Given the description of an element on the screen output the (x, y) to click on. 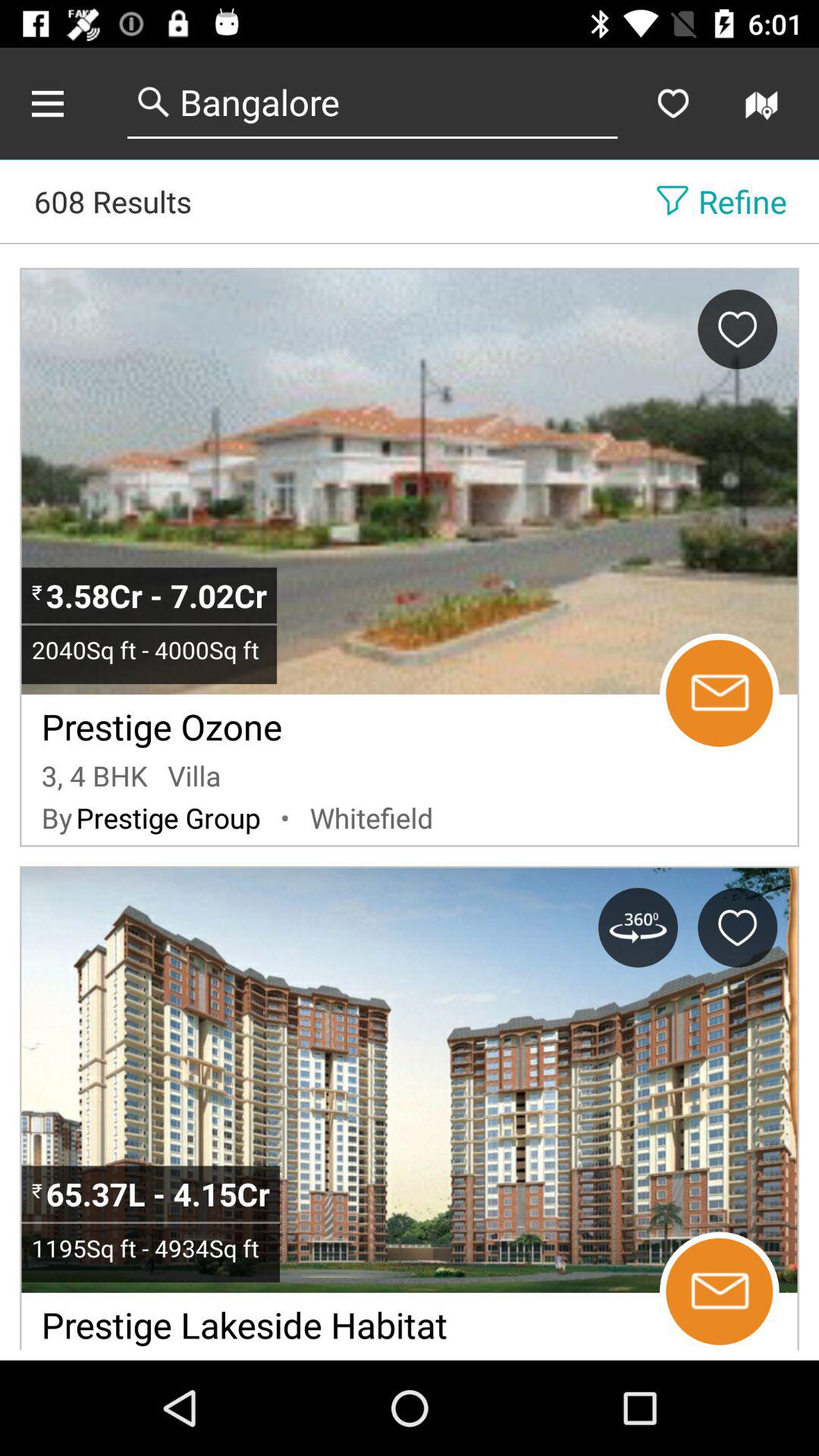
share the article (63, 103)
